Given the description of an element on the screen output the (x, y) to click on. 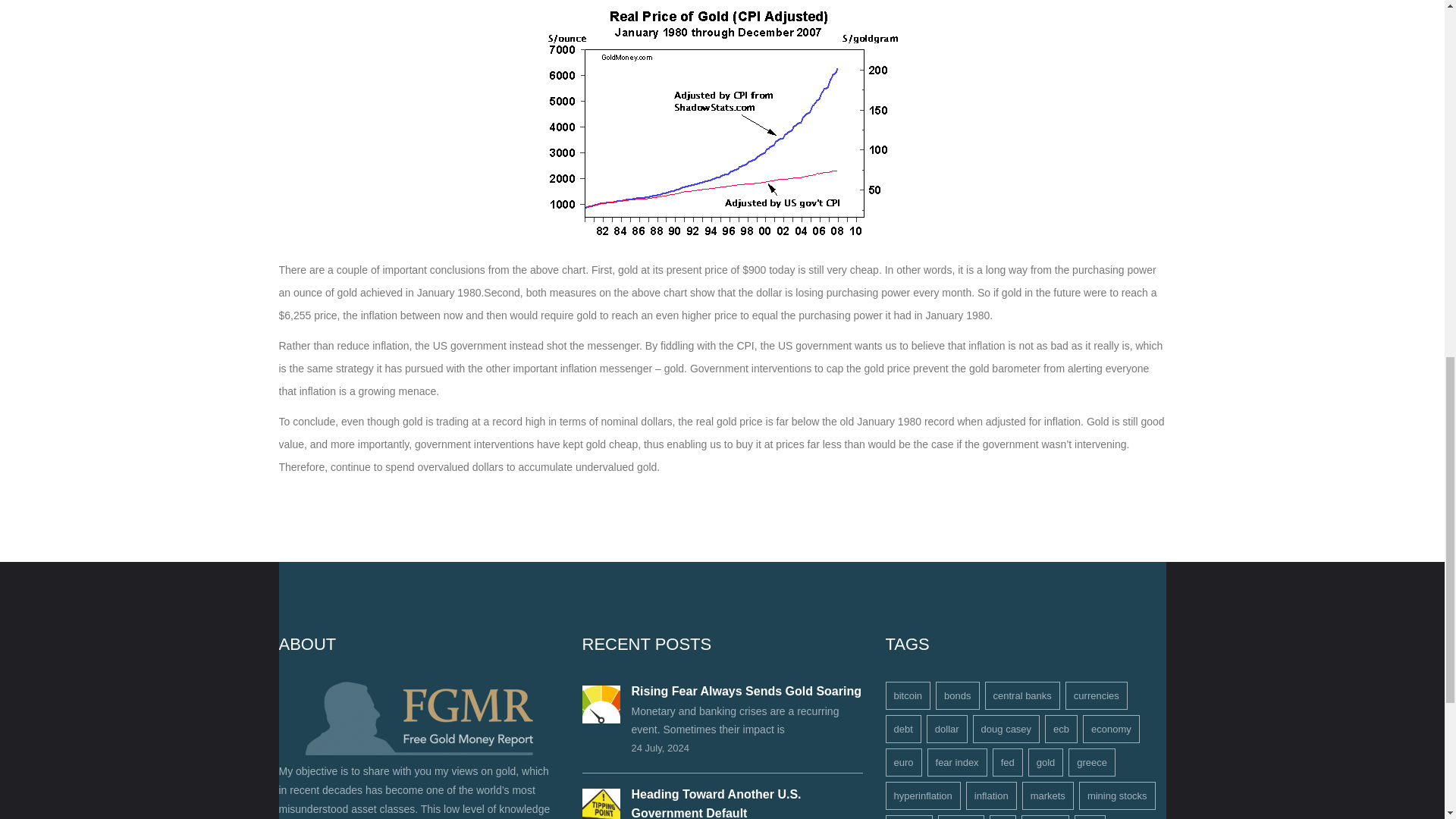
currencies (1095, 695)
gold (1045, 762)
bitcoin (908, 695)
greece (1091, 762)
money (960, 816)
Heading Toward Another U.S. Government Default (715, 803)
hyperinflation (922, 795)
fed (1007, 762)
ecb (1061, 728)
bonds (957, 695)
